Given the description of an element on the screen output the (x, y) to click on. 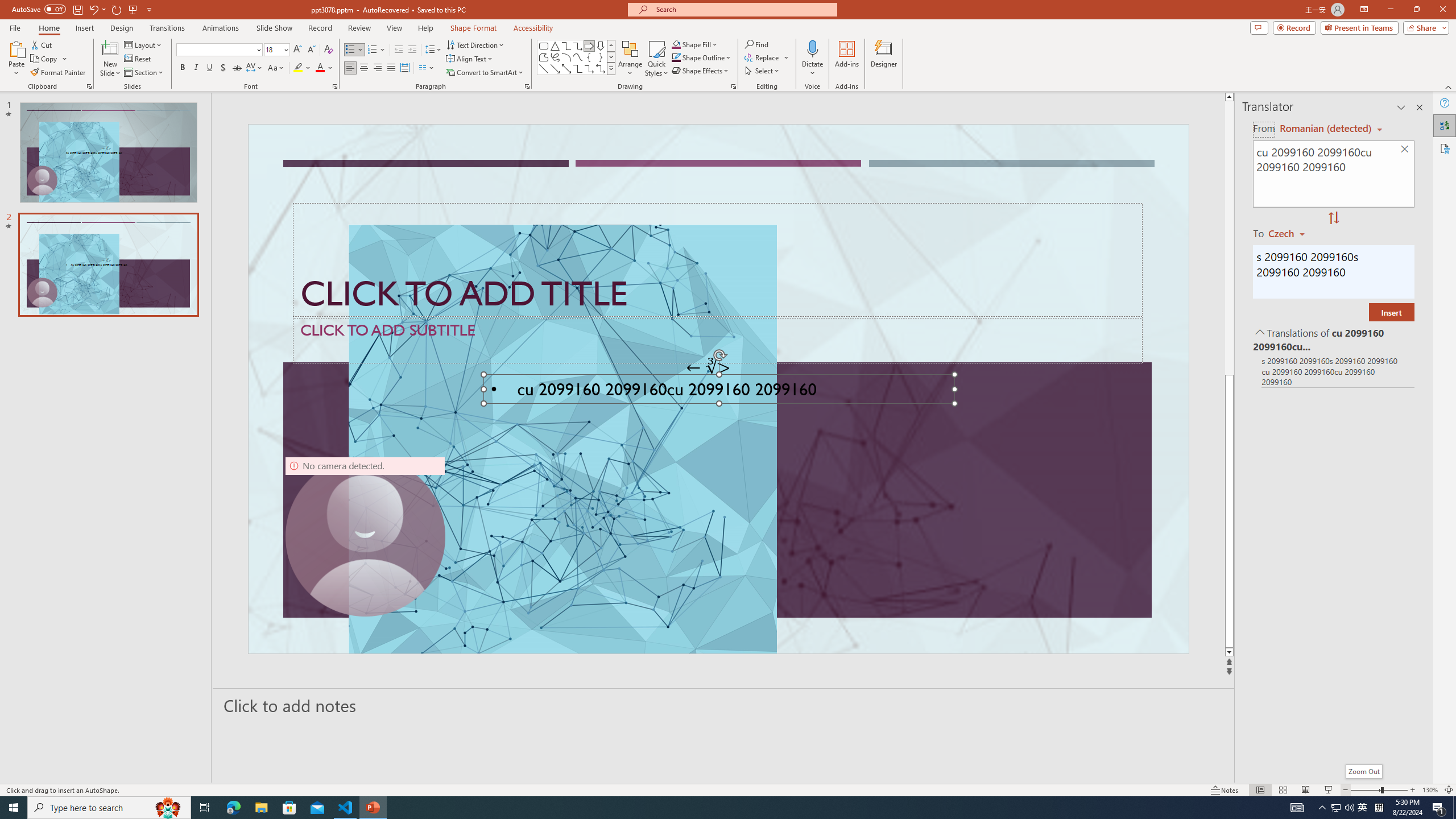
Translations of cu 2099160 2099160cu 2099160 2099160 (1333, 338)
